Given the description of an element on the screen output the (x, y) to click on. 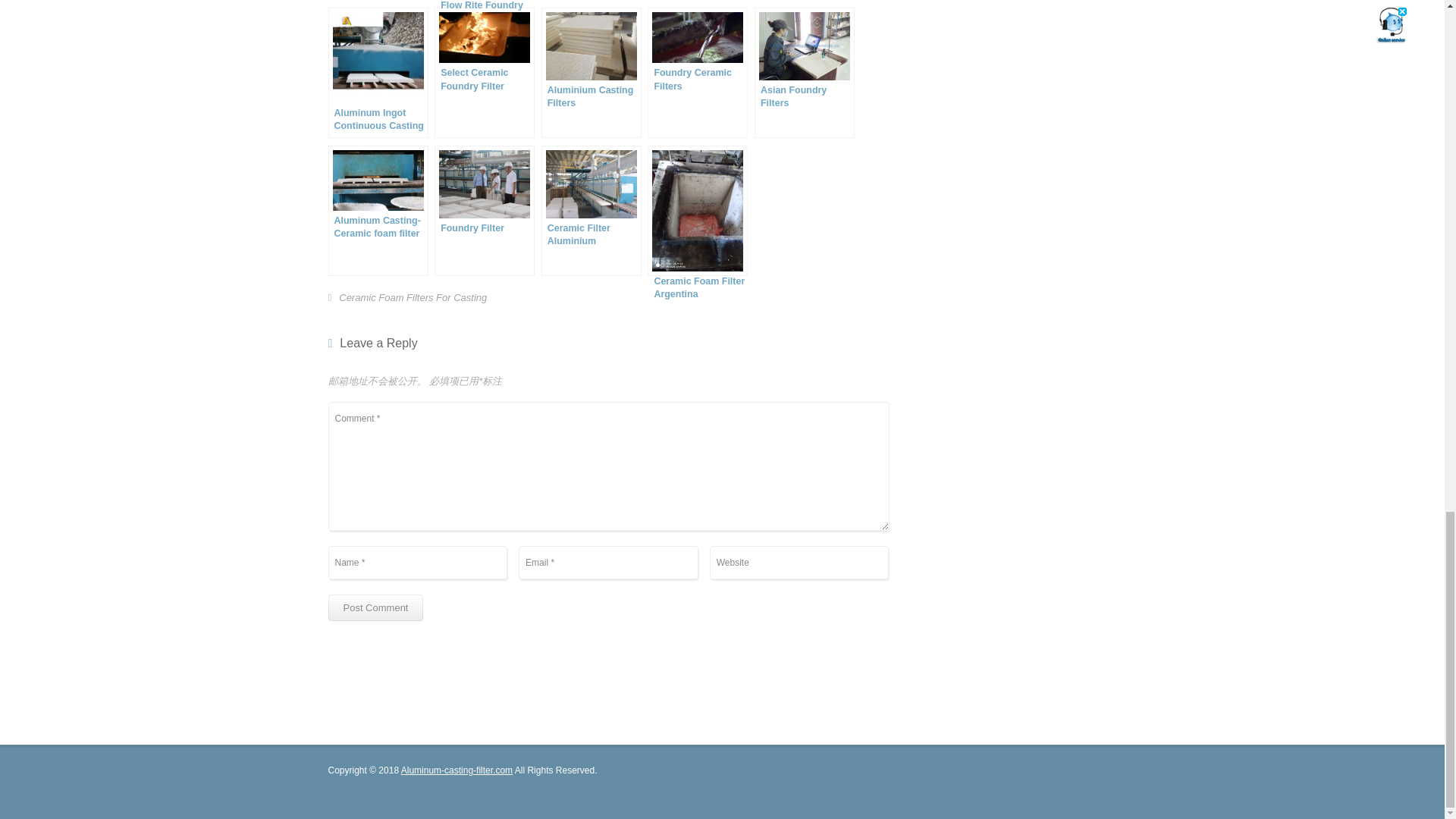
Ceramic Foam Filters For Casting (412, 298)
Website (799, 562)
Aluminum-casting-filter.com (456, 769)
Post Comment (375, 607)
Post Comment (375, 607)
